Given the description of an element on the screen output the (x, y) to click on. 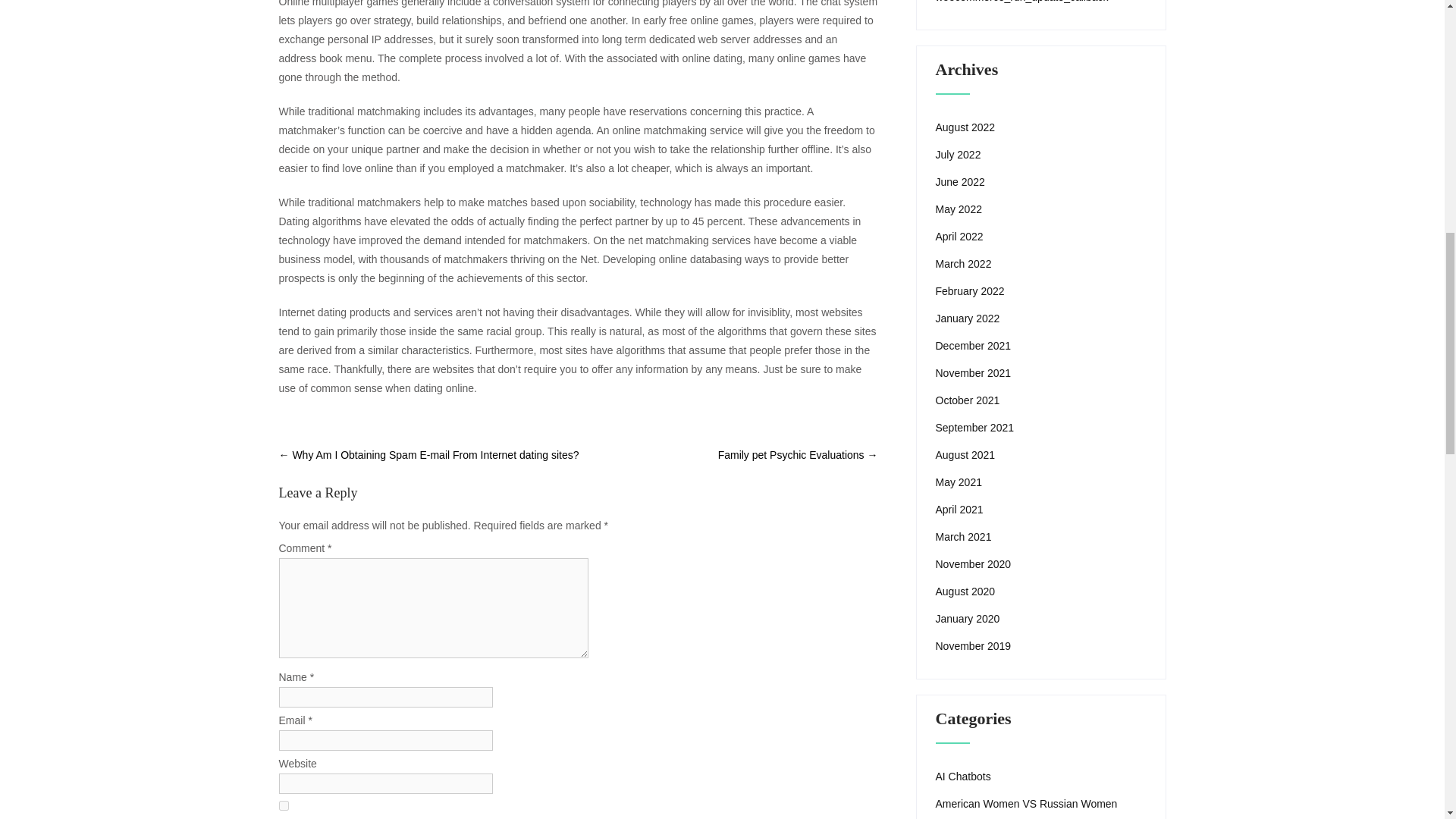
yes (283, 805)
